Given the description of an element on the screen output the (x, y) to click on. 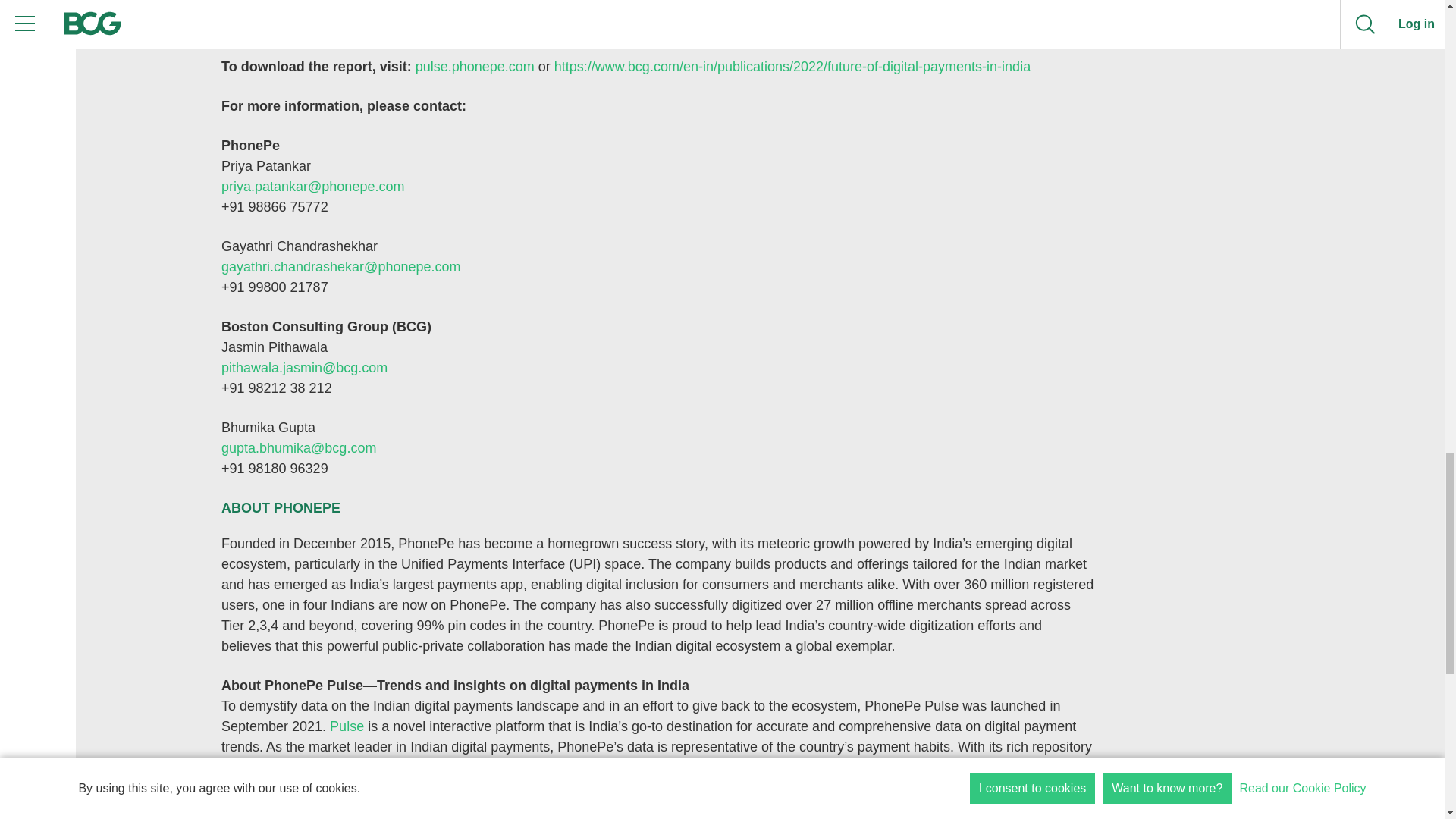
pulse.phonepe.com (474, 66)
Pulse (347, 726)
